Given the description of an element on the screen output the (x, y) to click on. 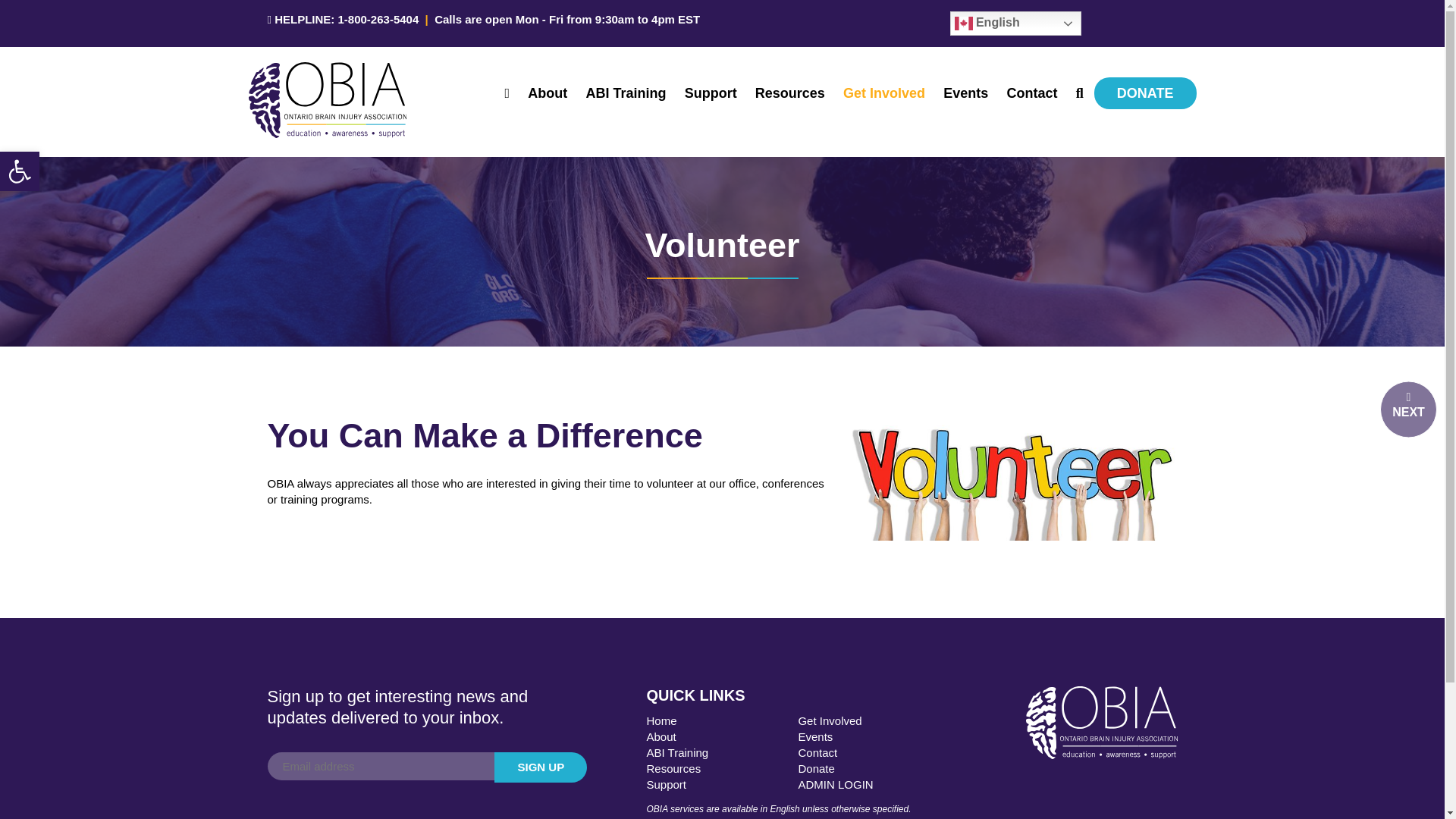
Support (710, 92)
ABI Training (625, 92)
Call the Helpline (378, 19)
Ontario Brain Injury Association (327, 133)
About (547, 92)
English (1014, 23)
About (660, 736)
1-800-263-5404 (378, 19)
Accessibility Tools (19, 170)
Home (661, 720)
Resources (790, 92)
Sign Up (540, 767)
